Given the description of an element on the screen output the (x, y) to click on. 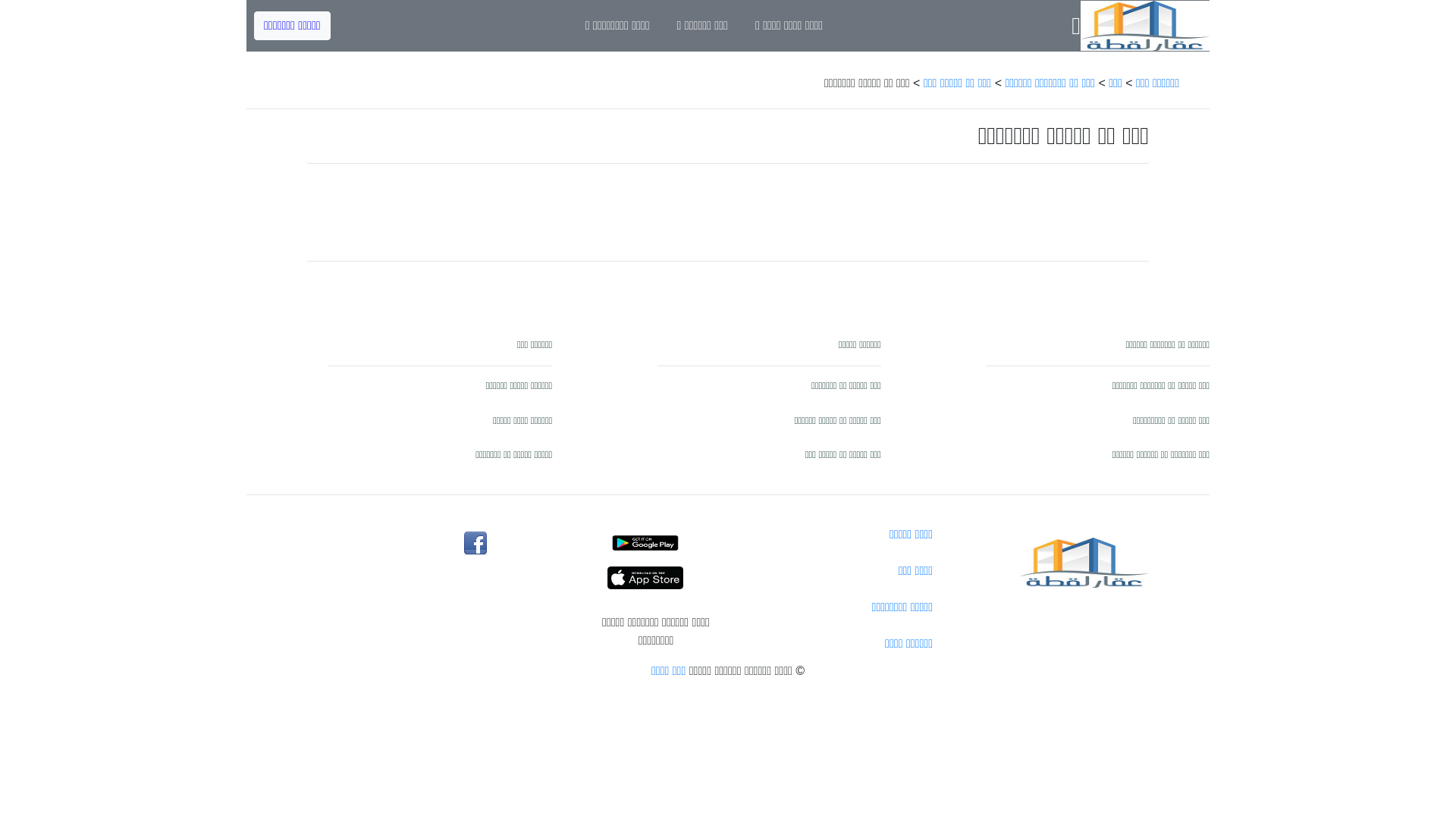
shof3qar ios Element type: hover (655, 577)
shof3qar anroid Element type: hover (655, 542)
3qarlo2ta facebook Element type: hover (475, 543)
facebook Element type: hover (475, 543)
